Given the description of an element on the screen output the (x, y) to click on. 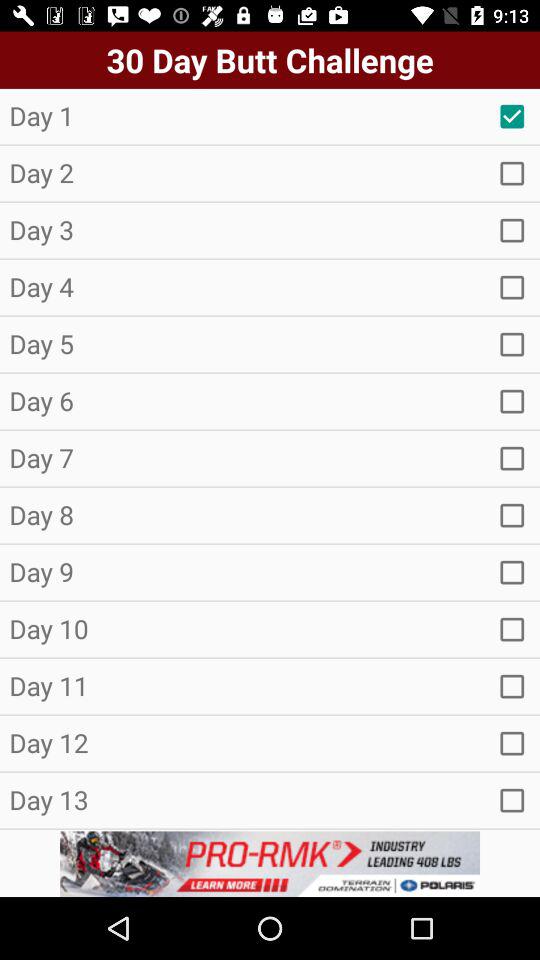
new tap (512, 230)
